Given the description of an element on the screen output the (x, y) to click on. 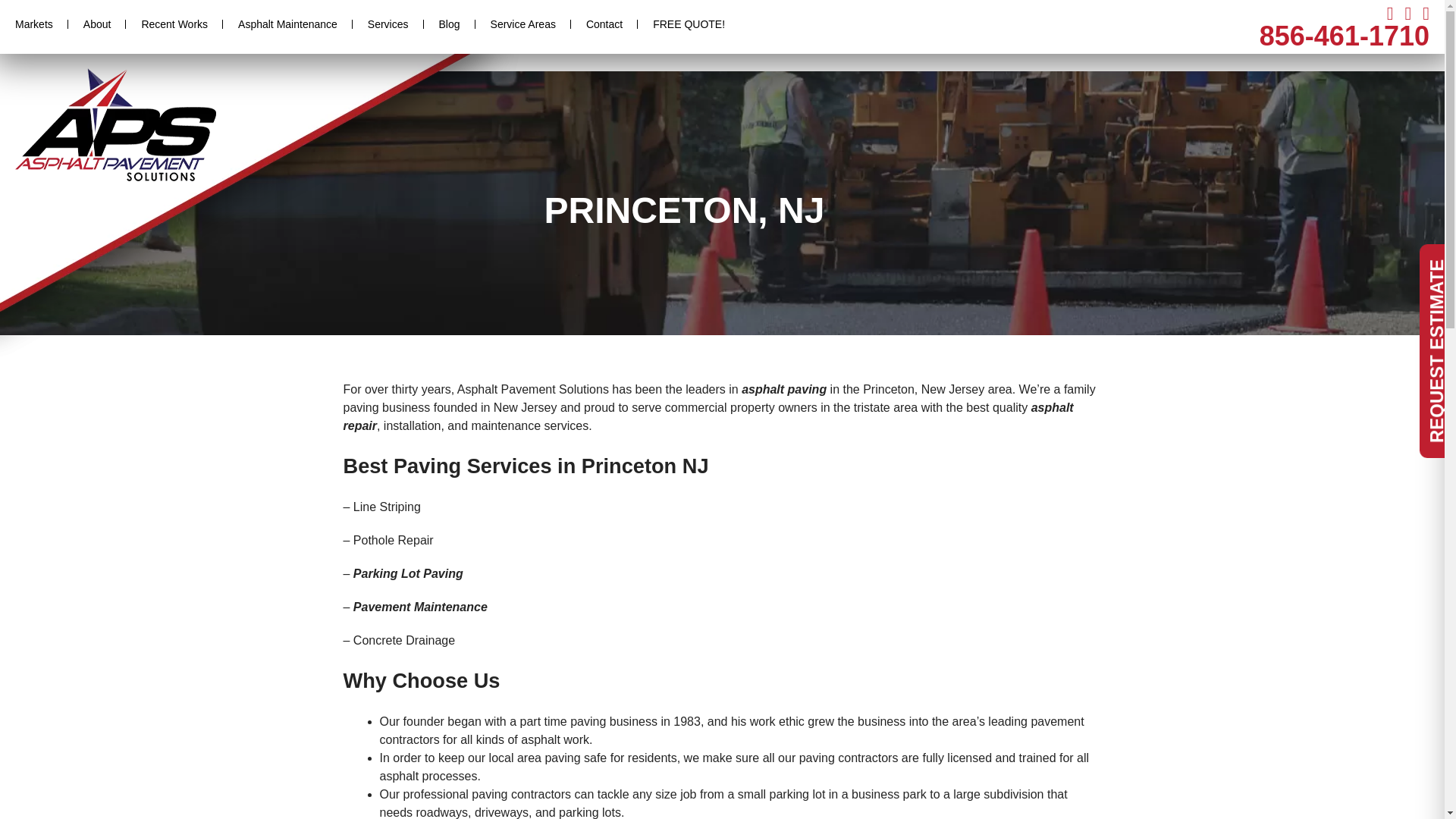
Asphalt Maintenance (287, 24)
Markets (34, 24)
Service Areas (523, 24)
Blog (449, 24)
856-461-1710 (1344, 35)
Contact (603, 24)
About (97, 24)
Services (387, 24)
Recent Works (173, 24)
